Given the description of an element on the screen output the (x, y) to click on. 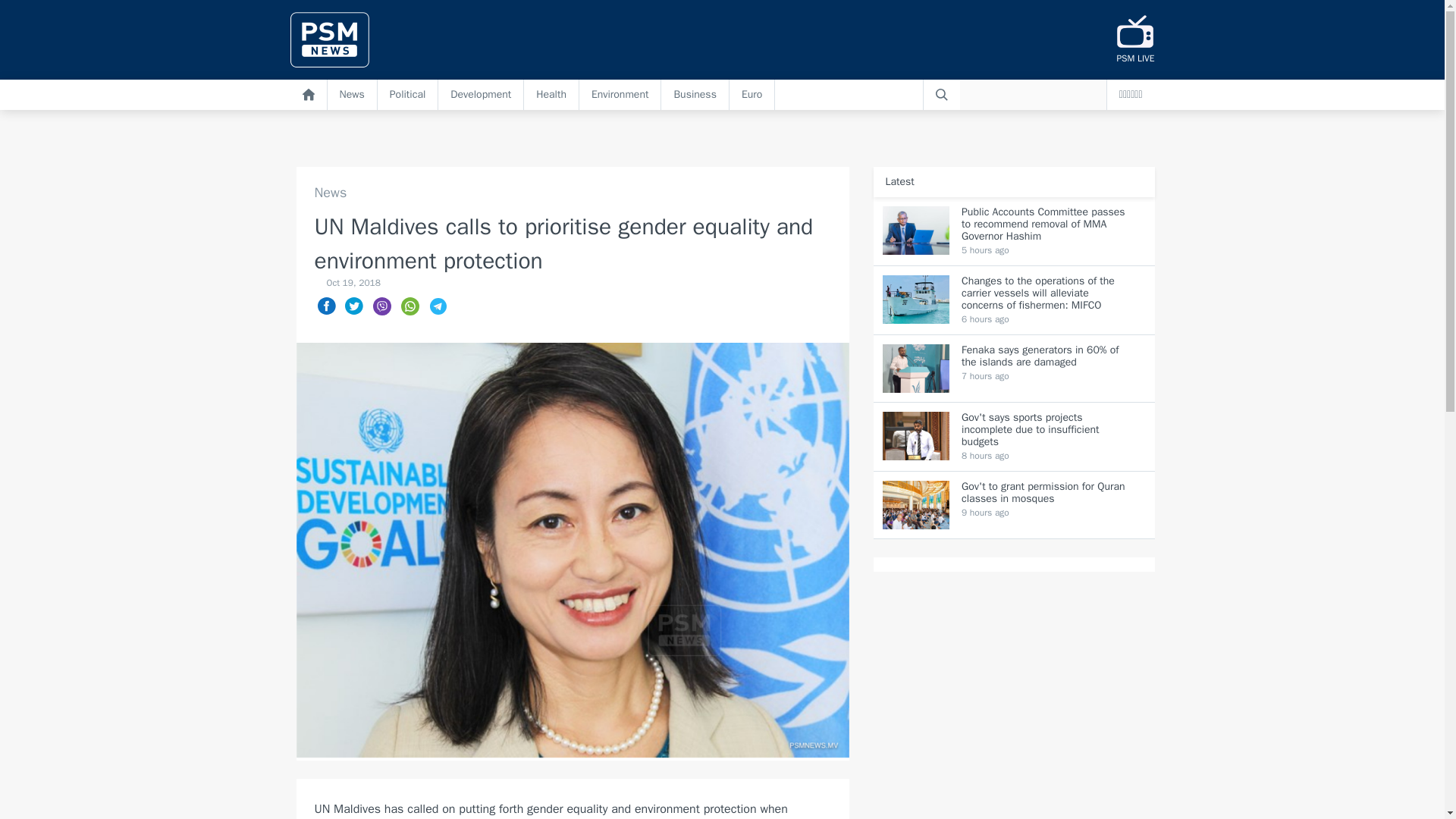
Business (695, 94)
News (352, 94)
Political (408, 94)
News (571, 192)
Latest (899, 182)
Development (481, 94)
Submit (941, 94)
Euro (751, 94)
Health (551, 94)
Environment (620, 94)
